Given the description of an element on the screen output the (x, y) to click on. 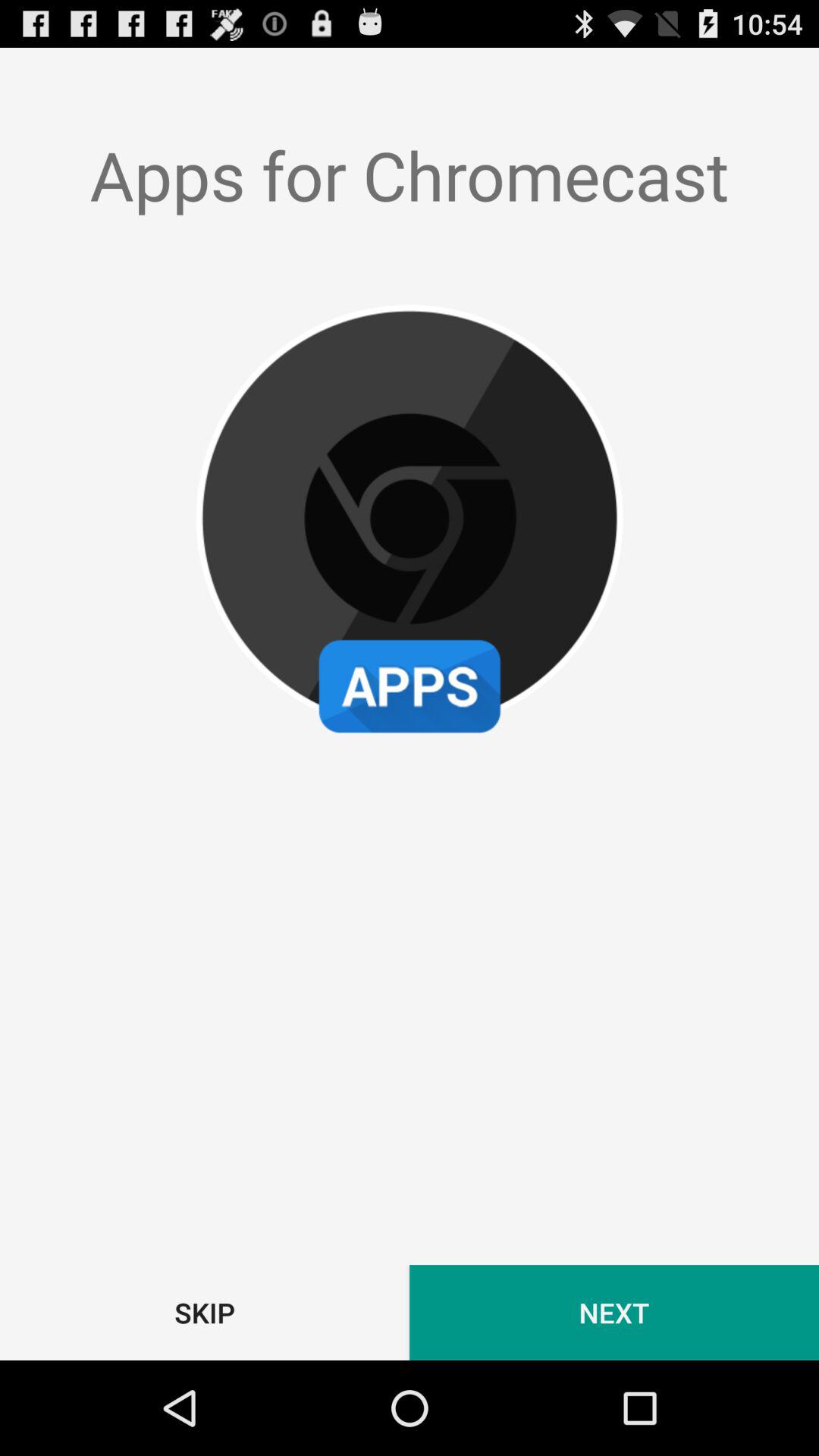
press the skip (204, 1312)
